Given the description of an element on the screen output the (x, y) to click on. 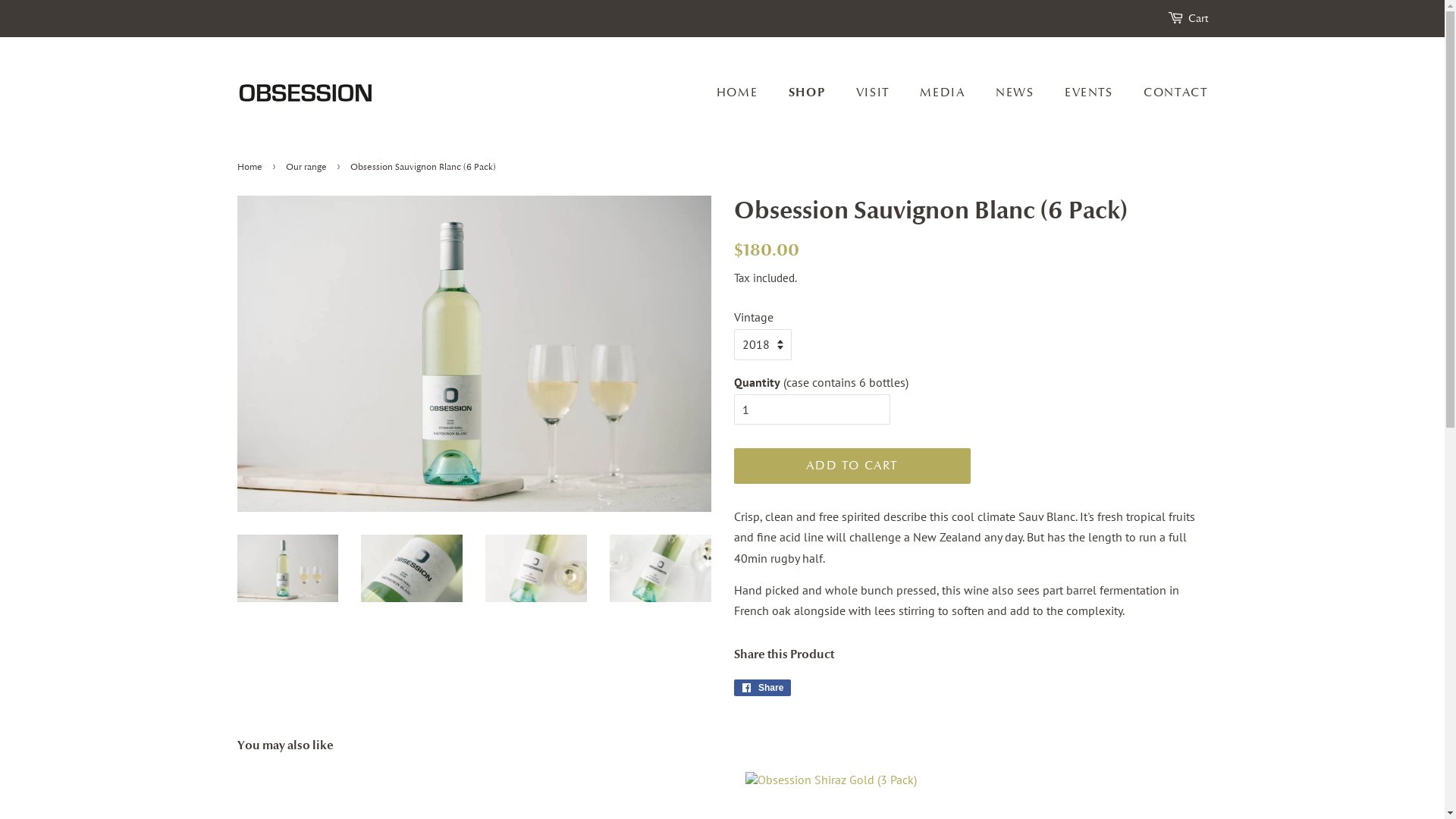
Home Element type: text (250, 166)
MEDIA Element type: text (943, 92)
HOME Element type: text (744, 92)
EVENTS Element type: text (1090, 92)
VISIT Element type: text (874, 92)
NEWS Element type: text (1016, 92)
Our range Element type: text (307, 166)
SHOP Element type: text (808, 91)
Cart Element type: text (1197, 18)
ADD TO CART Element type: text (852, 465)
Share
Share on Facebook Element type: text (762, 687)
CONTACT Element type: text (1169, 92)
